Given the description of an element on the screen output the (x, y) to click on. 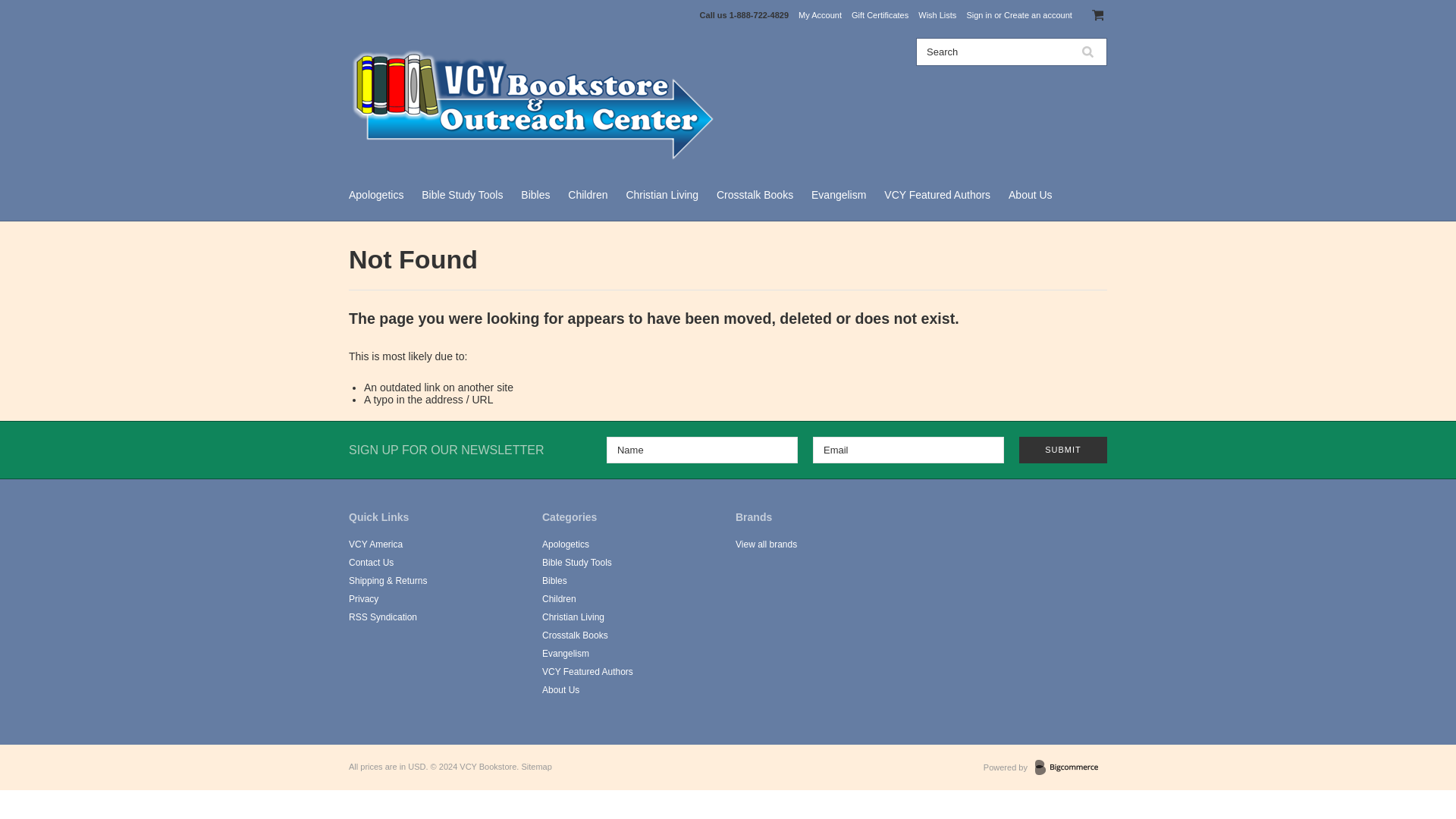
Search (1087, 51)
Search (992, 51)
Create an account (1037, 14)
Wish Lists (937, 14)
Sign in (978, 14)
Name (702, 449)
Email (908, 449)
My Account (819, 14)
View Cart (1097, 14)
Gift Certificates (879, 14)
Submit (1062, 449)
US Dollars (416, 766)
